Given the description of an element on the screen output the (x, y) to click on. 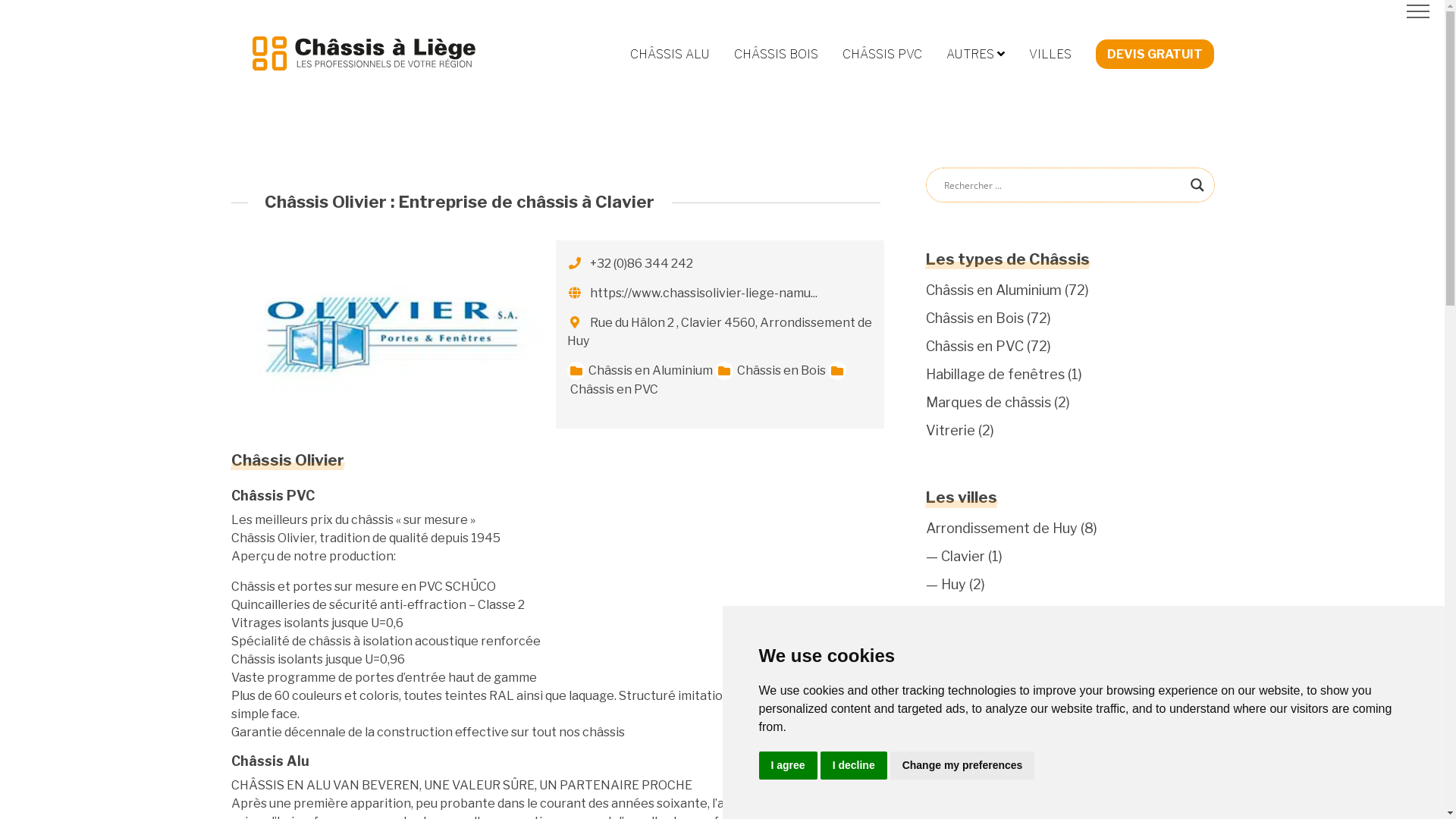
Vitrerie Element type: text (949, 430)
Ans Element type: text (952, 752)
Change my preferences Element type: text (962, 765)
Aywaille Element type: text (966, 808)
VILLES Element type: text (1049, 54)
Awans Element type: text (961, 780)
https://www.chassisolivier-liege-namu... Element type: text (703, 292)
Verlaine Element type: text (966, 640)
AUTRES Element type: text (975, 54)
Huy Element type: text (952, 584)
olivier chassis fenetres 2 Element type: hover (391, 333)
I decline Element type: text (853, 765)
I agree Element type: text (787, 765)
+32 (0)86 344 242 Element type: text (641, 263)
Arrondissement de Huy Element type: text (1000, 528)
Wanze Element type: text (962, 696)
Ouffet Element type: text (962, 612)
Clavier Element type: text (962, 556)
DEVIS GRATUIT Element type: text (1154, 54)
Villers-le-Bouillet Element type: text (995, 668)
